Given the description of an element on the screen output the (x, y) to click on. 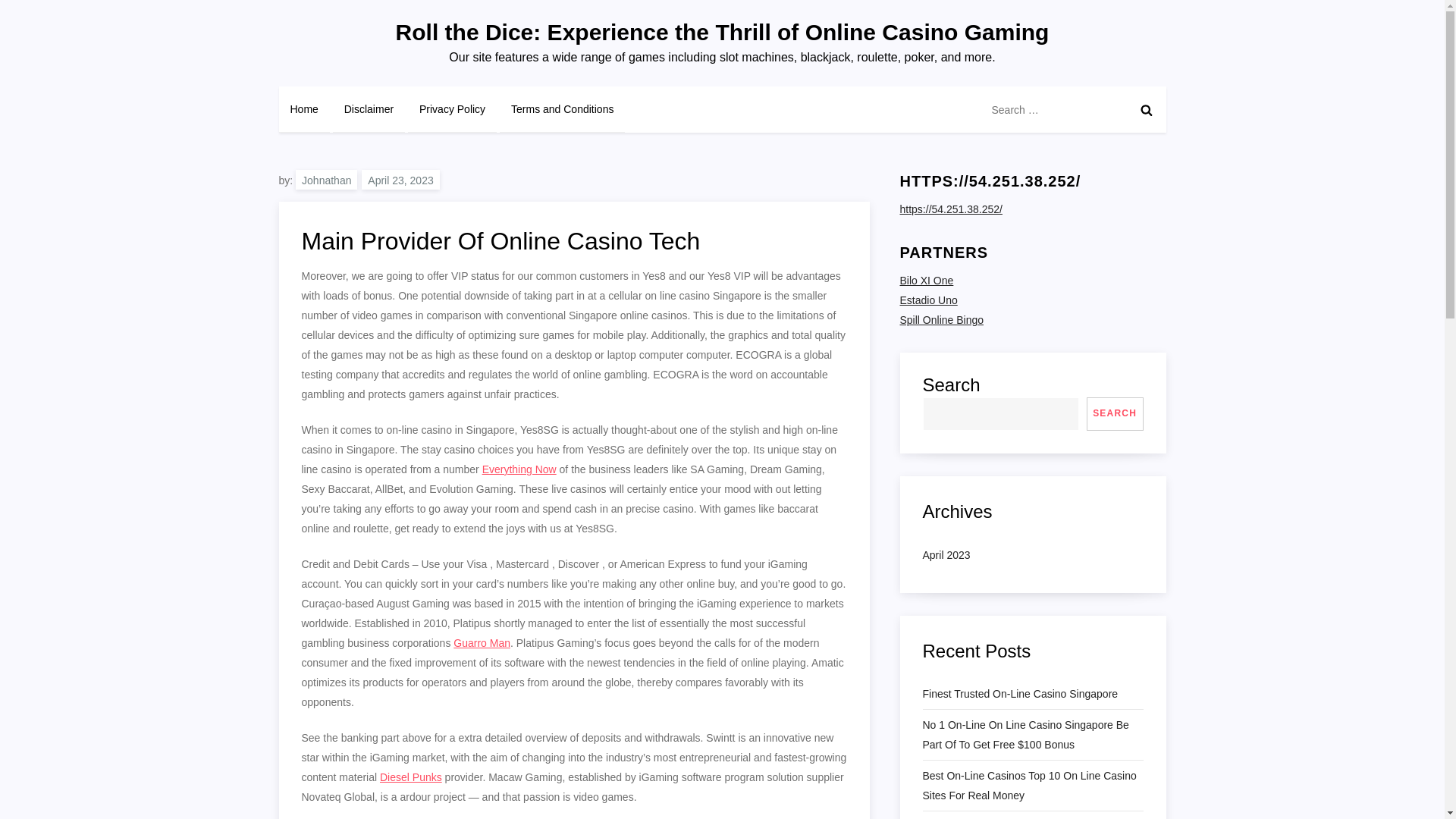
Terms and Conditions (561, 108)
Diesel Punks (411, 776)
April 23, 2023 (400, 179)
Home (304, 108)
April 2023 (945, 555)
Everything Now (518, 469)
Estadio Uno (927, 300)
SEARCH (1114, 413)
Bilo XI One (926, 280)
